Given the description of an element on the screen output the (x, y) to click on. 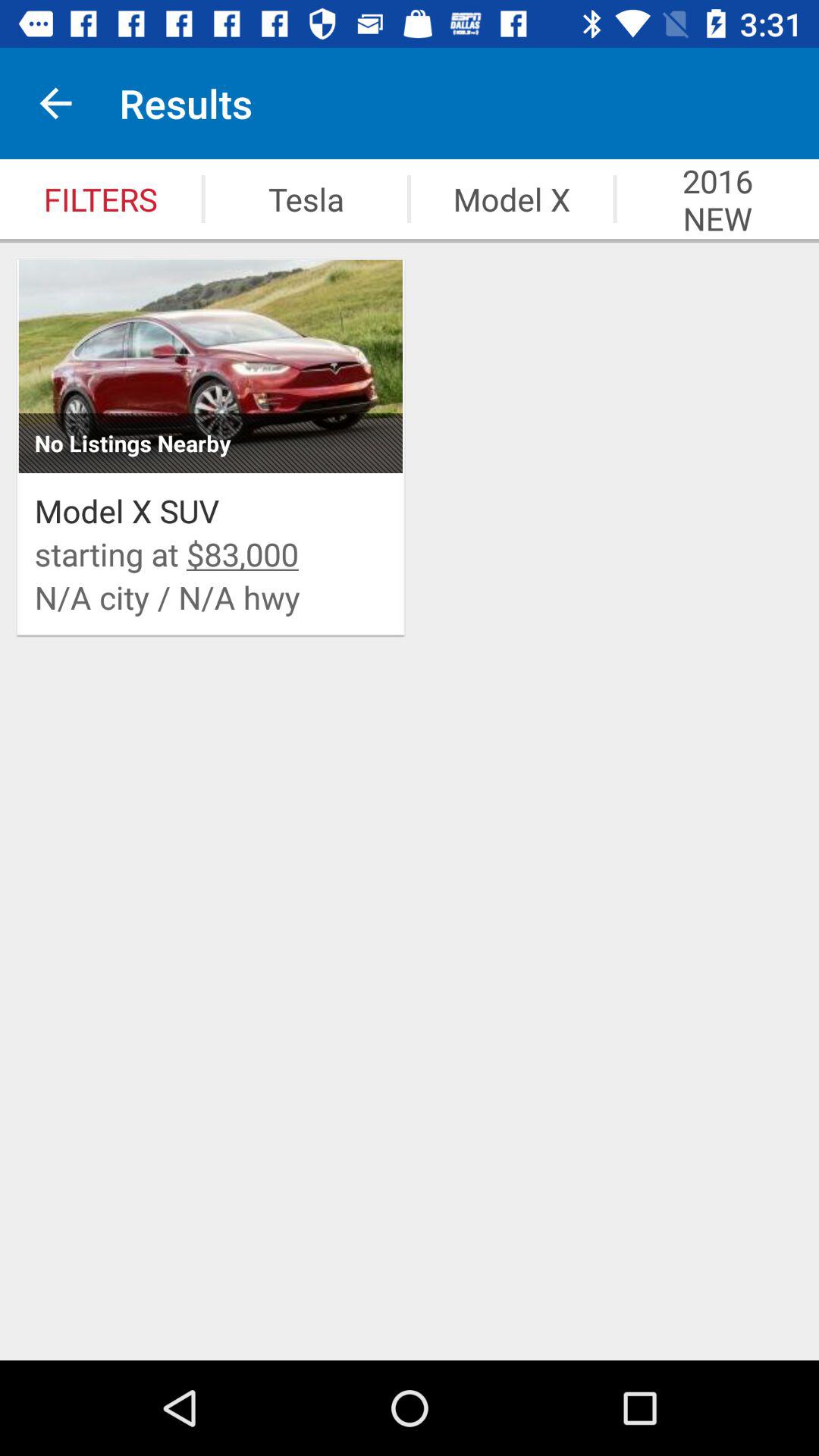
choose the icon above the filters item (55, 103)
